Given the description of an element on the screen output the (x, y) to click on. 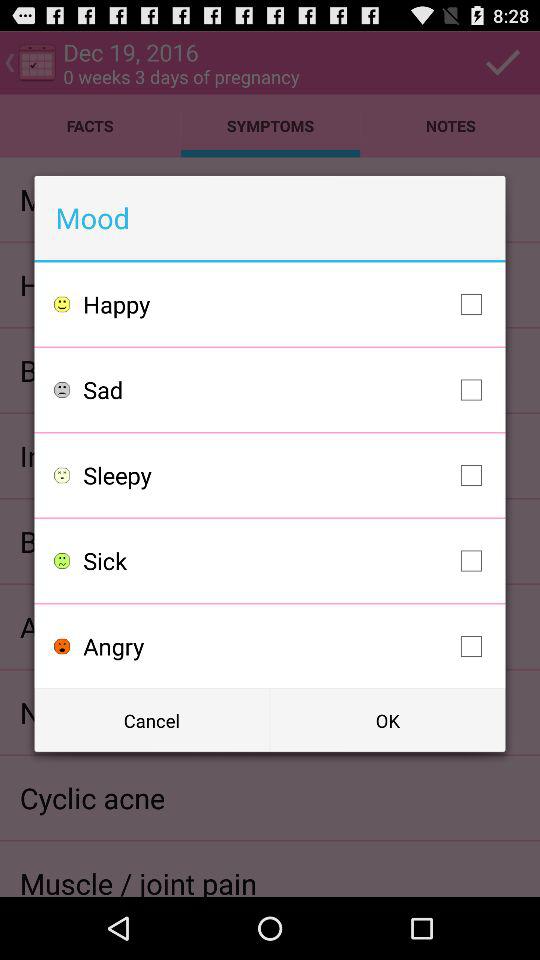
choose the item at the bottom (287, 646)
